Given the description of an element on the screen output the (x, y) to click on. 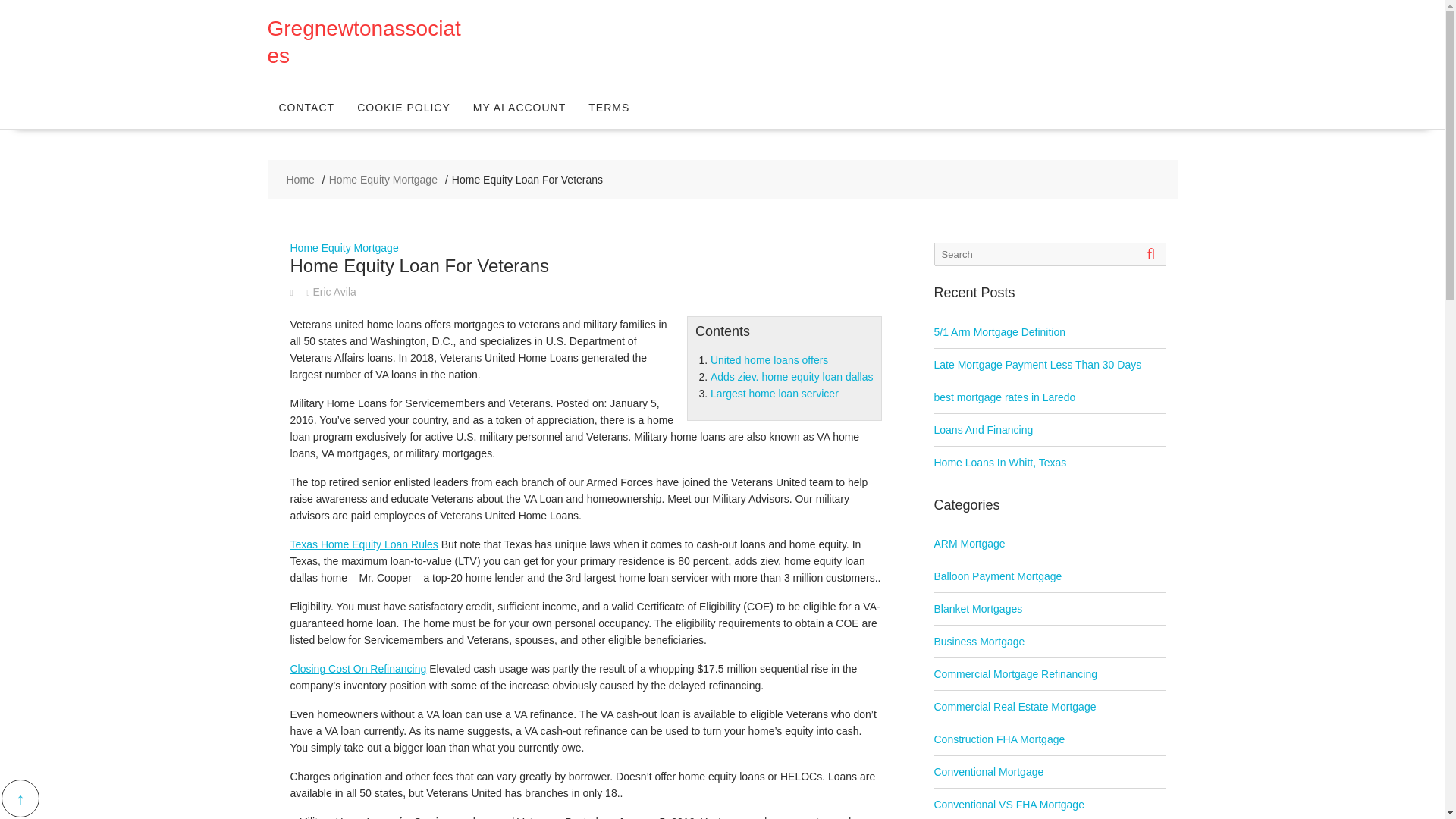
Home Equity Mortgage (383, 179)
MY AI ACCOUNT (518, 107)
CONTACT (306, 107)
Home (300, 179)
TERMS (608, 107)
Gregnewtonassociates (363, 41)
Eric Avila (330, 291)
Closing Cost On Refinancing (357, 668)
Home Equity Mortgage (343, 247)
COOKIE POLICY (403, 107)
